Given the description of an element on the screen output the (x, y) to click on. 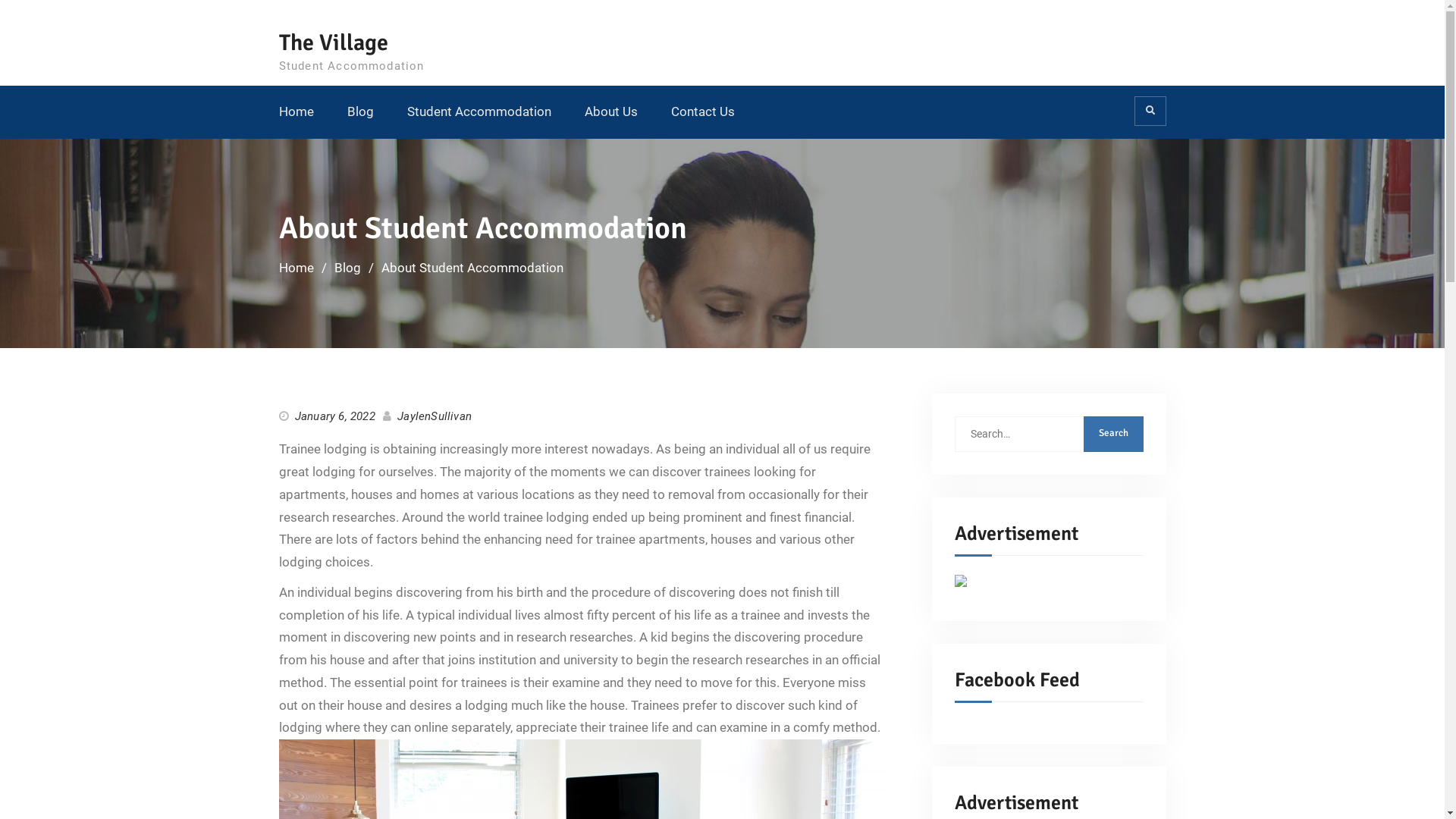
Home Element type: text (296, 267)
Blog Element type: text (346, 267)
Blog Element type: text (360, 111)
The Village Element type: text (333, 42)
Student Accommodation Element type: text (478, 111)
January 6, 2022 Element type: text (334, 416)
Contact Us Element type: text (702, 111)
About Us Element type: text (610, 111)
Home Element type: text (296, 111)
JaylenSullivan Element type: text (434, 416)
Search for: Element type: hover (1047, 433)
Search Element type: text (1112, 433)
